Given the description of an element on the screen output the (x, y) to click on. 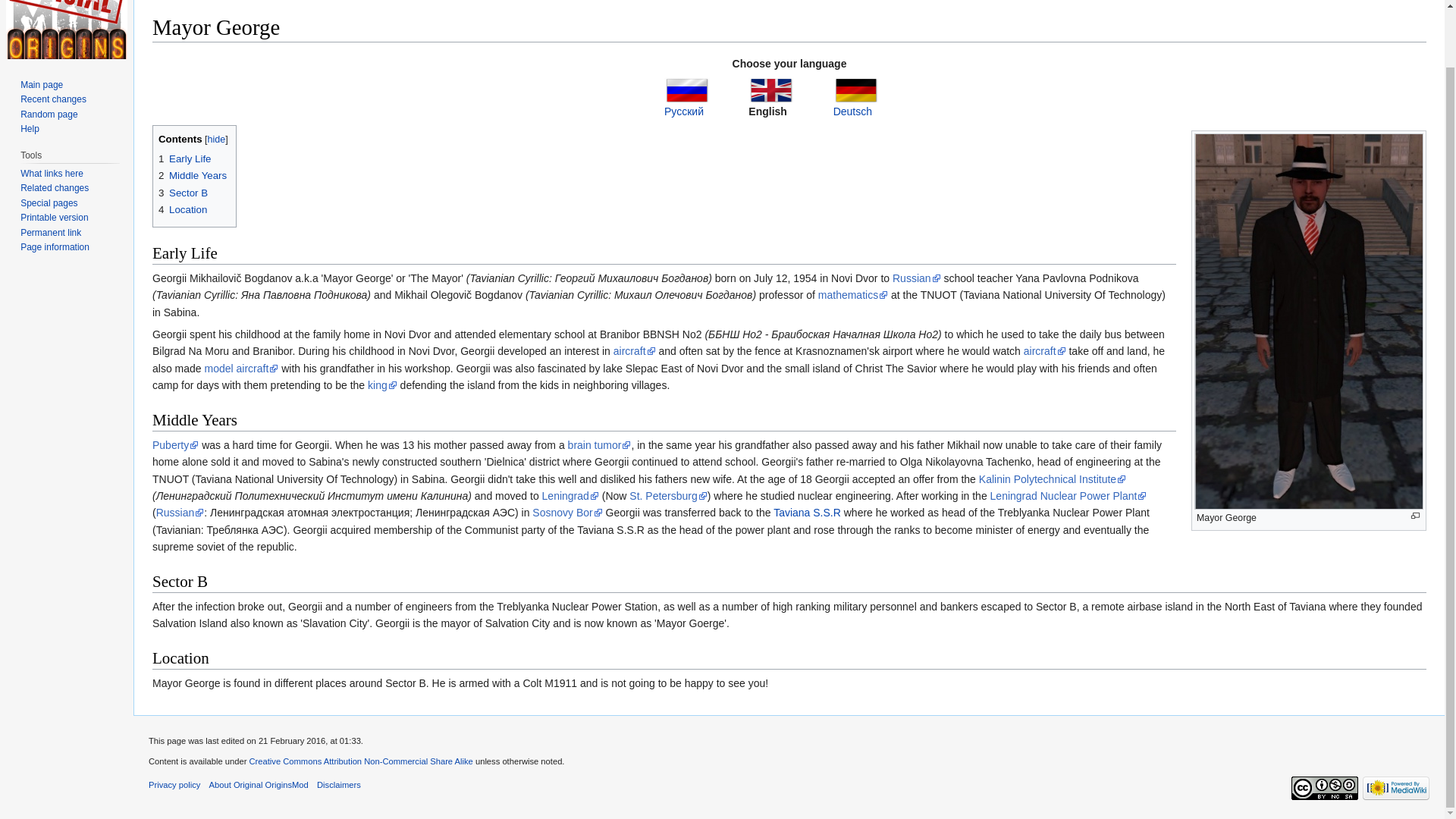
Visit the main page (66, 29)
aircraft (634, 350)
hide (216, 139)
Taviana S.S.R (807, 512)
king (382, 385)
Recent changes (52, 99)
Main page (41, 84)
Kalinin Polytechnical Institute (1051, 479)
4 Location (182, 209)
Sosnovy Bor (567, 512)
The place to find out (29, 128)
Puberty (175, 444)
Taviana S.S.R (807, 512)
Russian (916, 277)
Russian (180, 512)
